Given the description of an element on the screen output the (x, y) to click on. 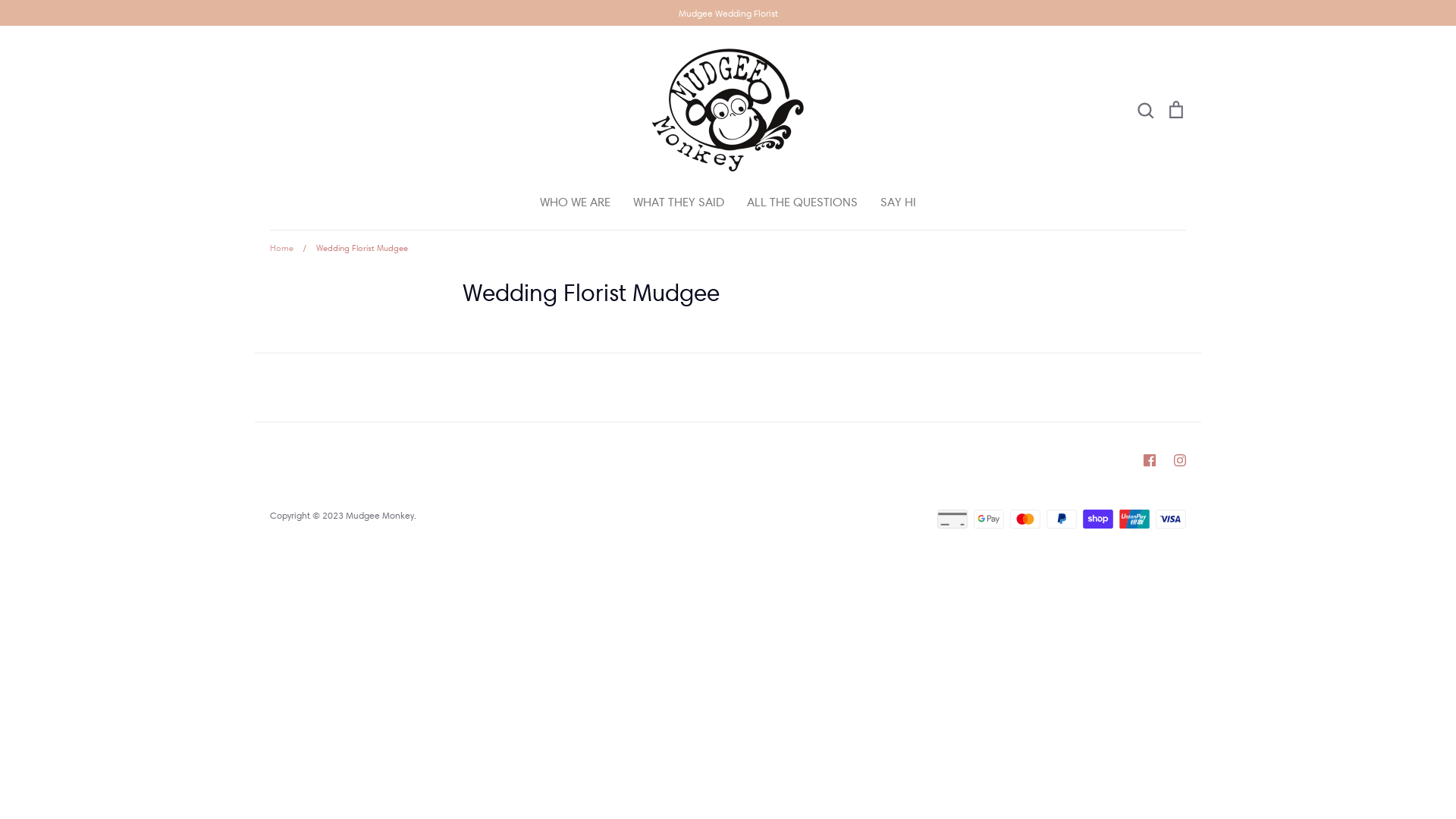
WHO WE ARE Element type: text (574, 201)
Home Element type: text (281, 247)
Mudgee Monkey Element type: text (379, 514)
/ Wedding Florist Mudgee Element type: text (351, 247)
Search Element type: text (1144, 109)
ALL THE QUESTIONS Element type: text (801, 201)
Cart Element type: text (1176, 109)
WHAT THEY SAID Element type: text (678, 201)
SAY HI Element type: text (898, 201)
